Given the description of an element on the screen output the (x, y) to click on. 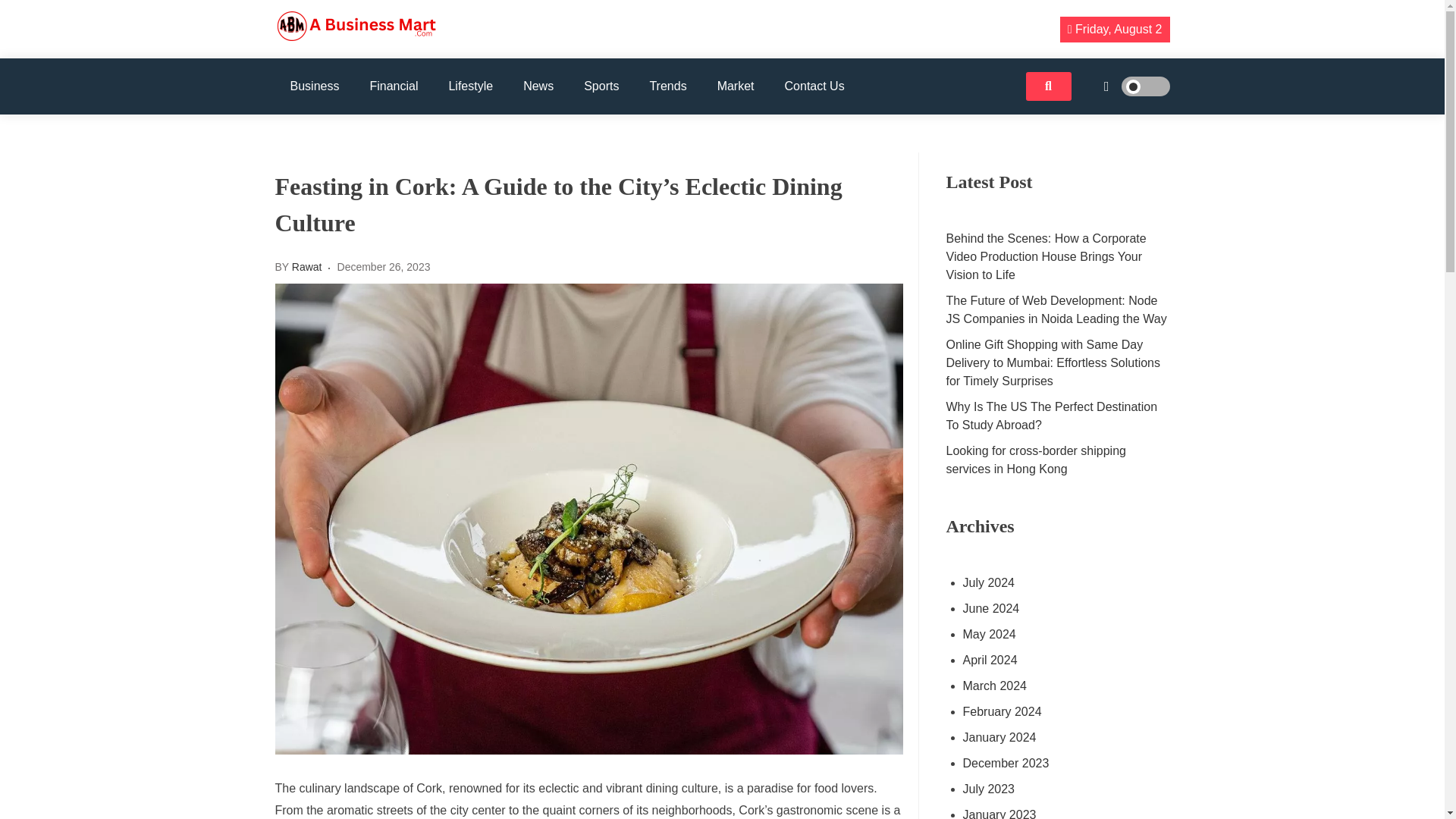
May 2024 (1057, 634)
Looking for cross-border shipping services in Hong Kong (1058, 460)
December 26, 2023 (383, 266)
Market (735, 86)
February 2024 (1057, 711)
Why Is The US The Perfect Destination To Study Abroad? (1058, 415)
March 2024 (1057, 686)
Trends (667, 86)
July 2023 (1057, 789)
January 2024 (1057, 737)
Lifestyle (470, 86)
Contact Us (815, 86)
Business (314, 86)
Rawat (306, 266)
June 2024 (1057, 608)
